Given the description of an element on the screen output the (x, y) to click on. 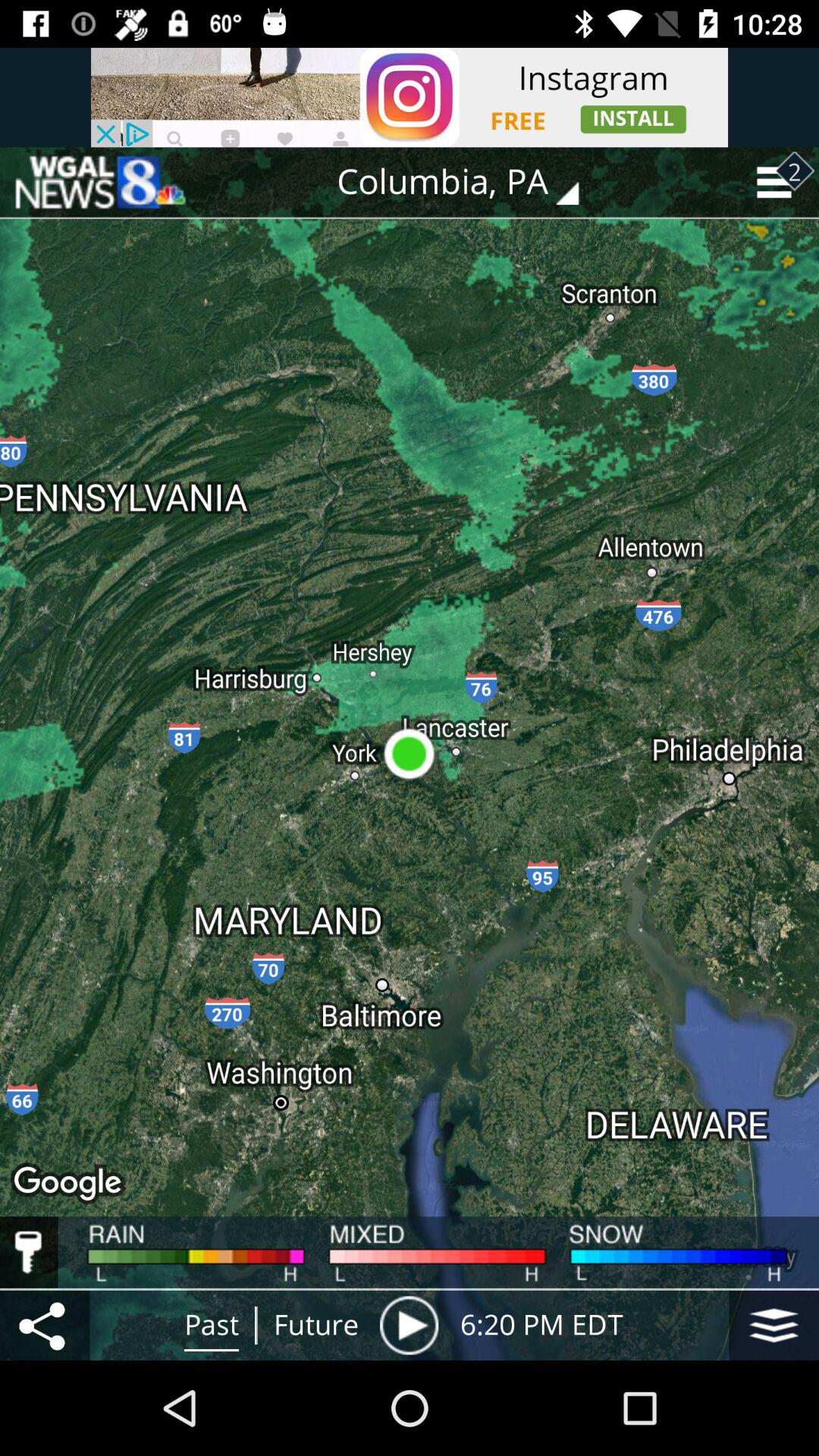
tap item next to the past icon (44, 1325)
